Given the description of an element on the screen output the (x, y) to click on. 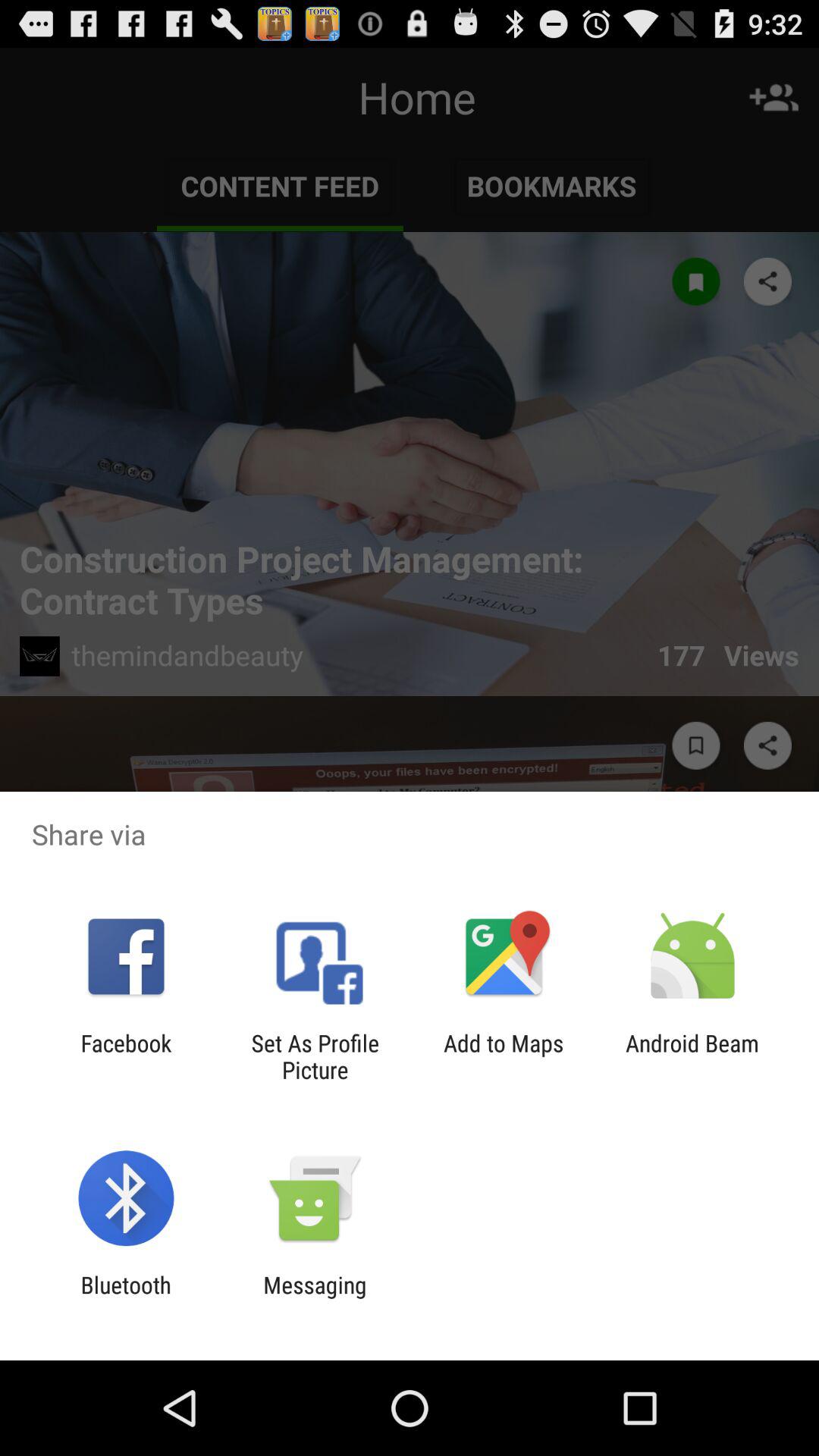
click set as profile item (314, 1056)
